Given the description of an element on the screen output the (x, y) to click on. 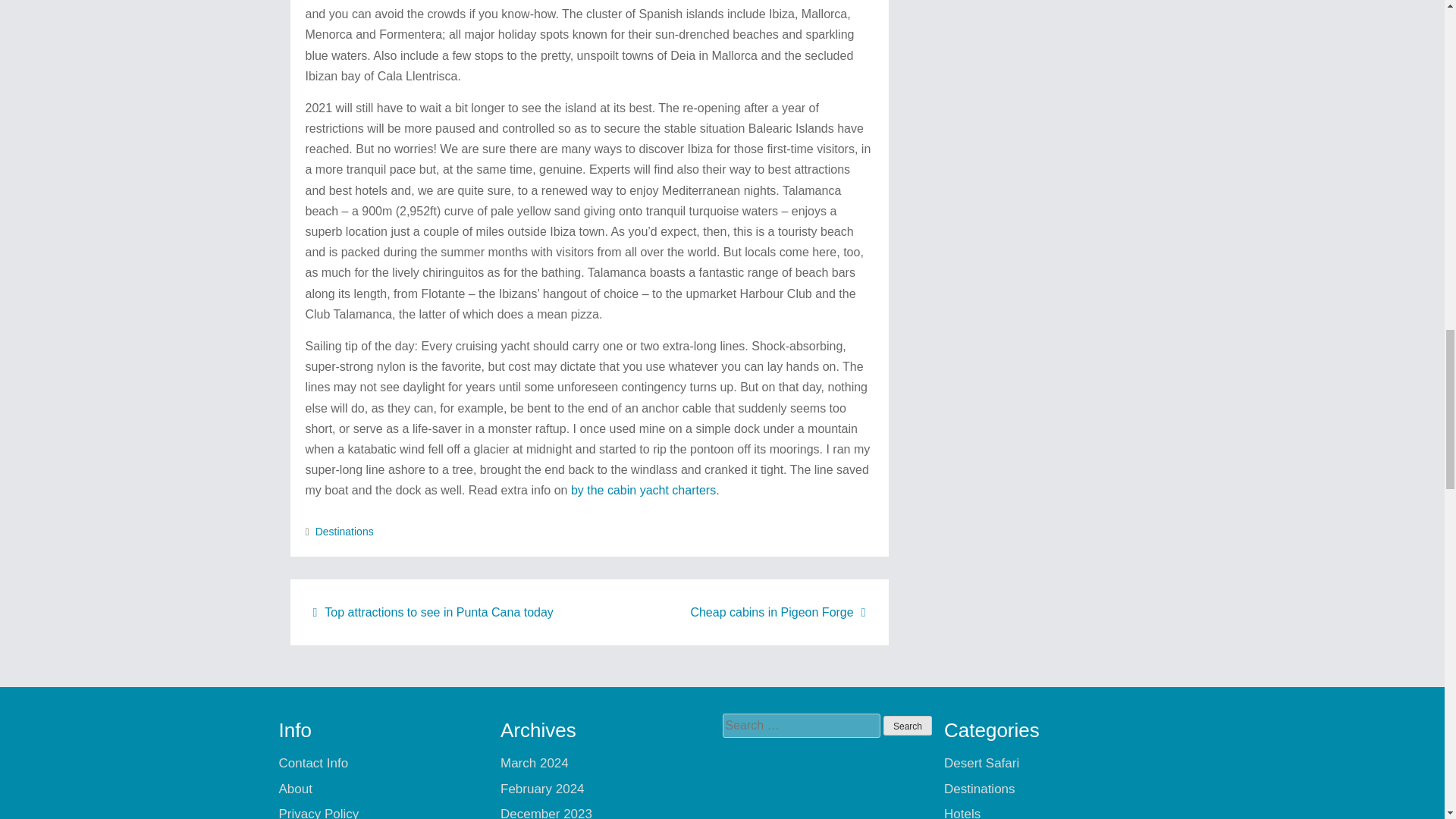
Top attractions to see in Punta Cana today (433, 612)
Destinations (344, 531)
Search (907, 725)
by the cabin yacht charters (643, 490)
Search (907, 725)
Cheap cabins in Pigeon Forge (777, 612)
